Given the description of an element on the screen output the (x, y) to click on. 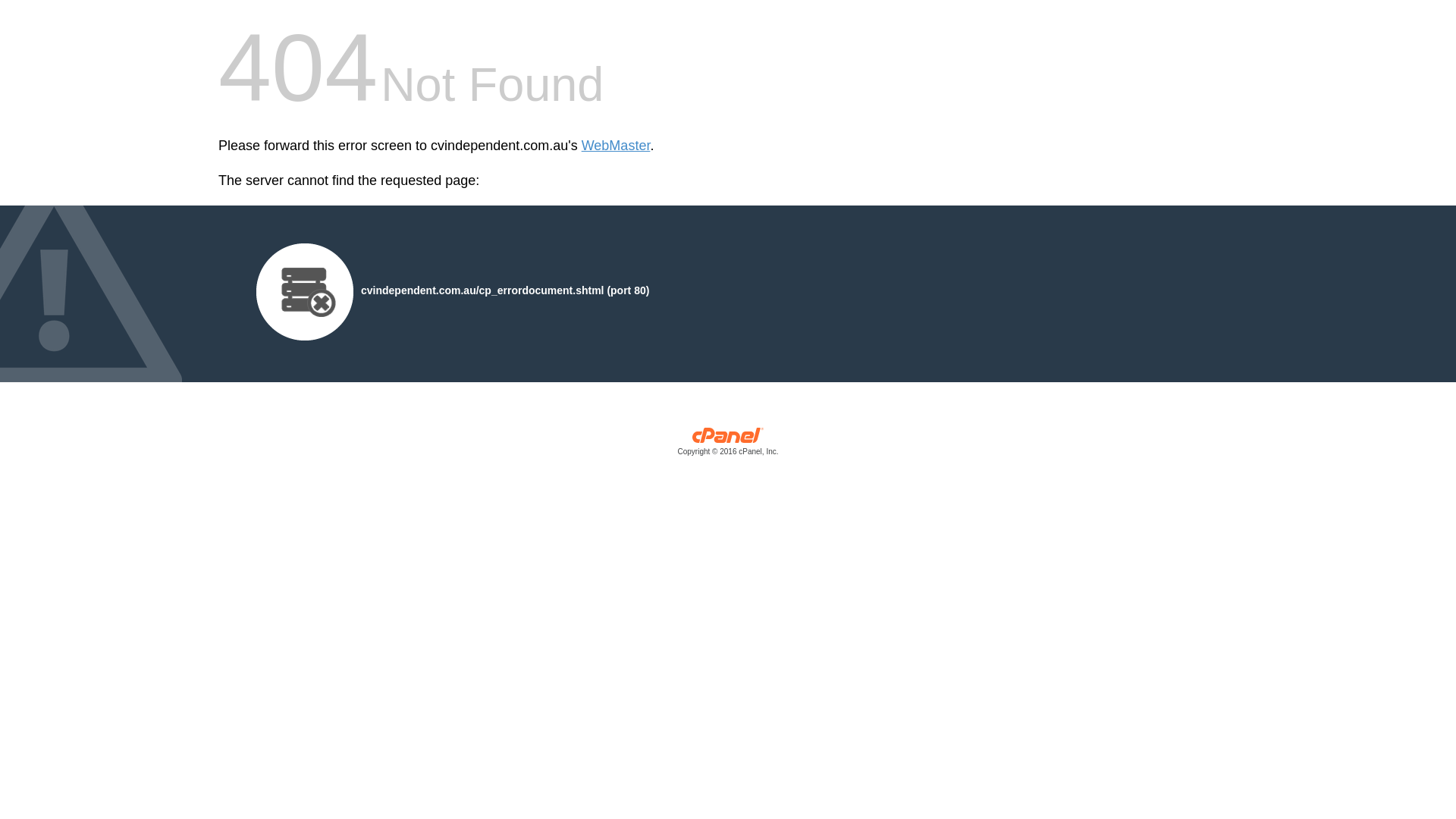
WebMaster Element type: text (615, 145)
